Given the description of an element on the screen output the (x, y) to click on. 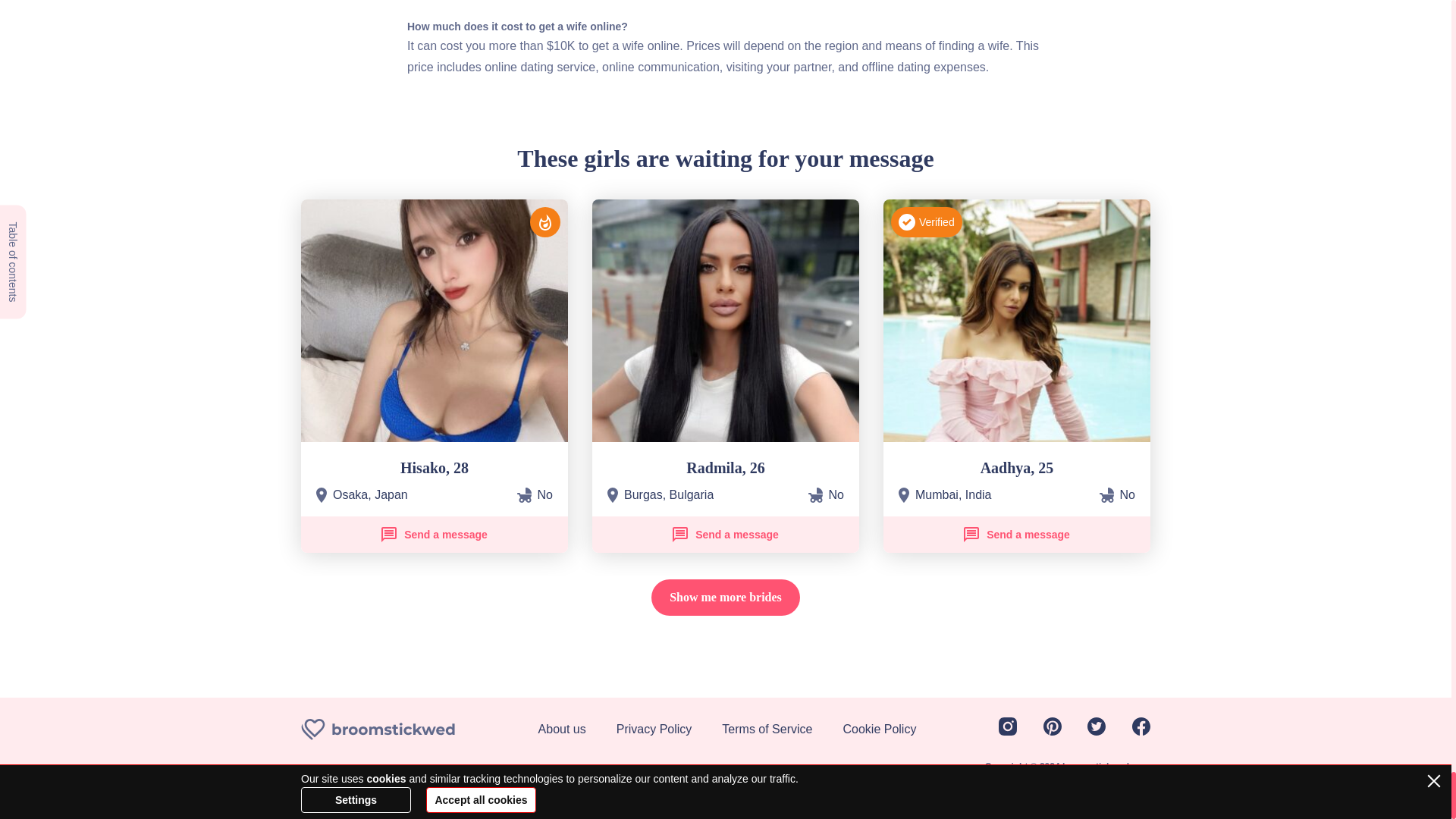
DMCA.com Protection Status (347, 784)
iTunes (425, 783)
